Given the description of an element on the screen output the (x, y) to click on. 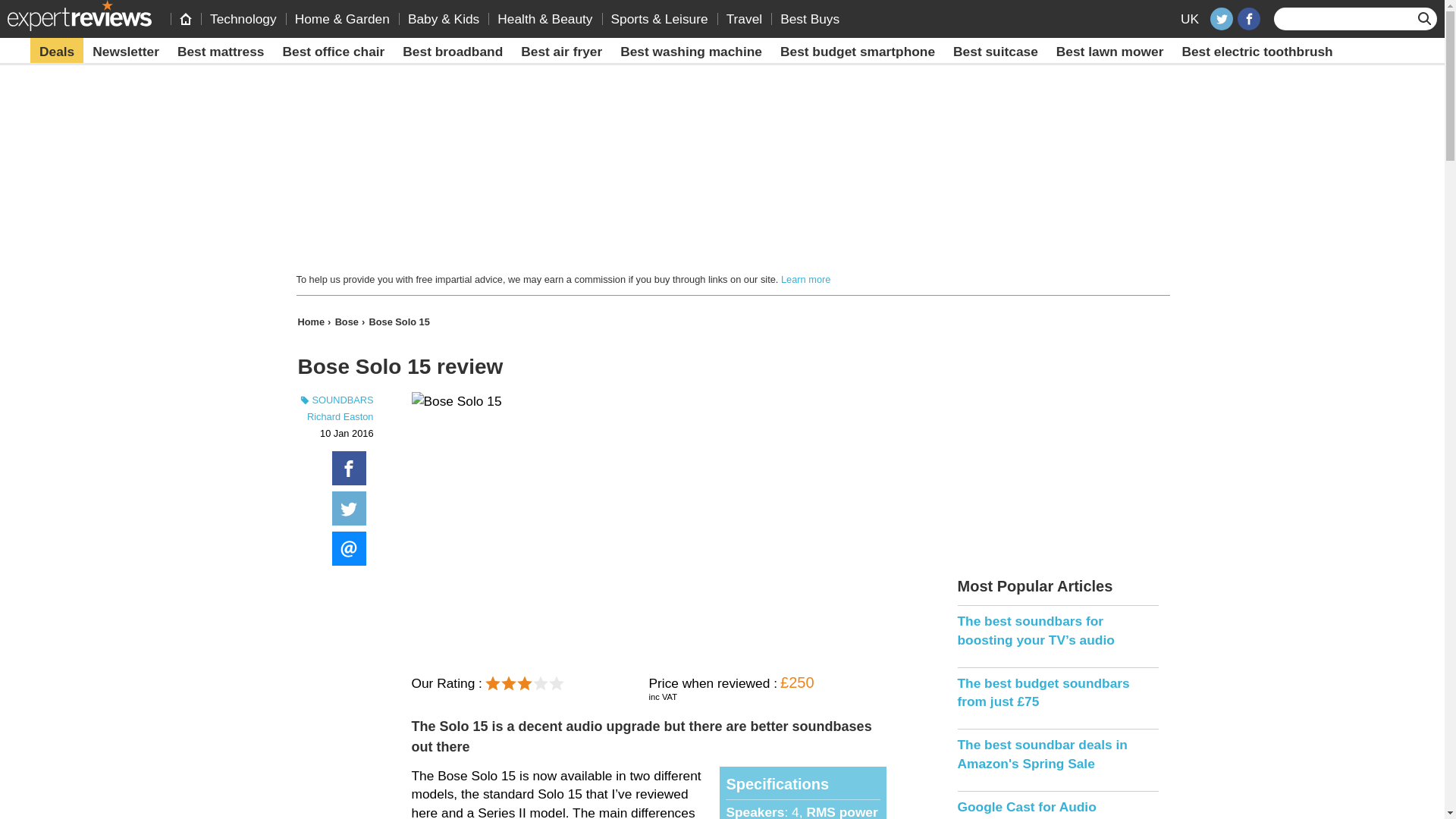
Best broadband (452, 51)
Start search (1425, 18)
Bose (348, 321)
Best electric toothbrush (1256, 51)
Richard Easton (340, 416)
Newsletter (125, 51)
Travel (744, 18)
Best washing machine (691, 51)
SOUNDBARS (334, 400)
Expert Reviews (79, 15)
